Given the description of an element on the screen output the (x, y) to click on. 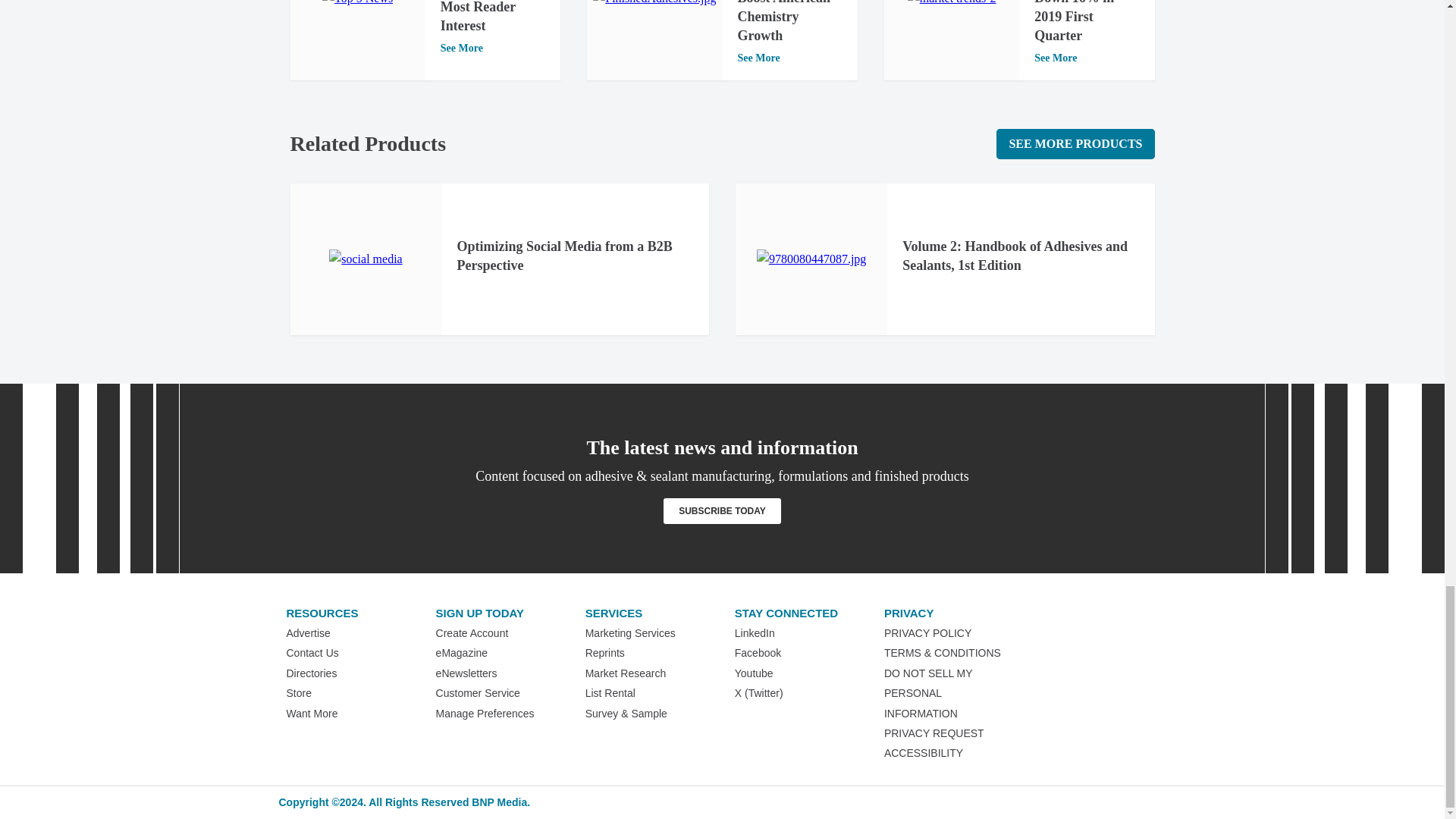
FinishedAdhesives.jpg (654, 4)
market trends-2 (951, 4)
Top 5 News (357, 4)
social media (365, 259)
9780080447087.jpg (811, 259)
